Given the description of an element on the screen output the (x, y) to click on. 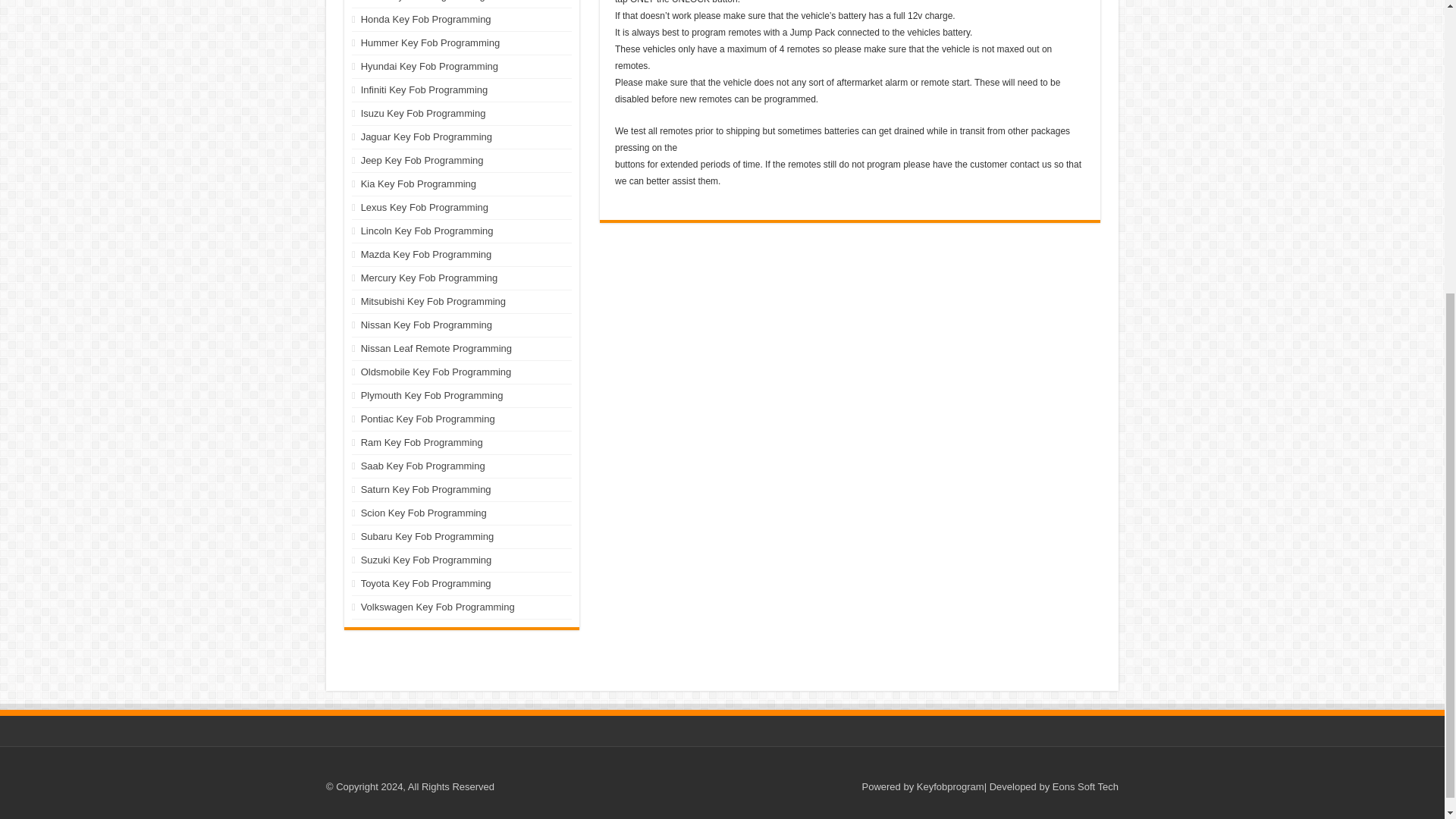
Saab Key Fob Programming (422, 465)
Saturn Key Fob Programming (426, 489)
Oldsmobile Key Fob Programming (436, 371)
Toyota Key Fob Programming (426, 583)
GMC Key Fob Programming (422, 0)
Lincoln Key Fob Programming (427, 230)
Mercury Key Fob Programming (429, 277)
Jaguar Key Fob Programming (426, 136)
Nissan Leaf Remote Programming (436, 348)
Honda Key Fob Programming (426, 19)
Jeep Key Fob Programming (422, 160)
Volkswagen Key Fob Programming (438, 606)
Plymouth Key Fob Programming (432, 395)
Nissan Key Fob Programming (426, 324)
Pontiac Key Fob Programming (428, 419)
